Given the description of an element on the screen output the (x, y) to click on. 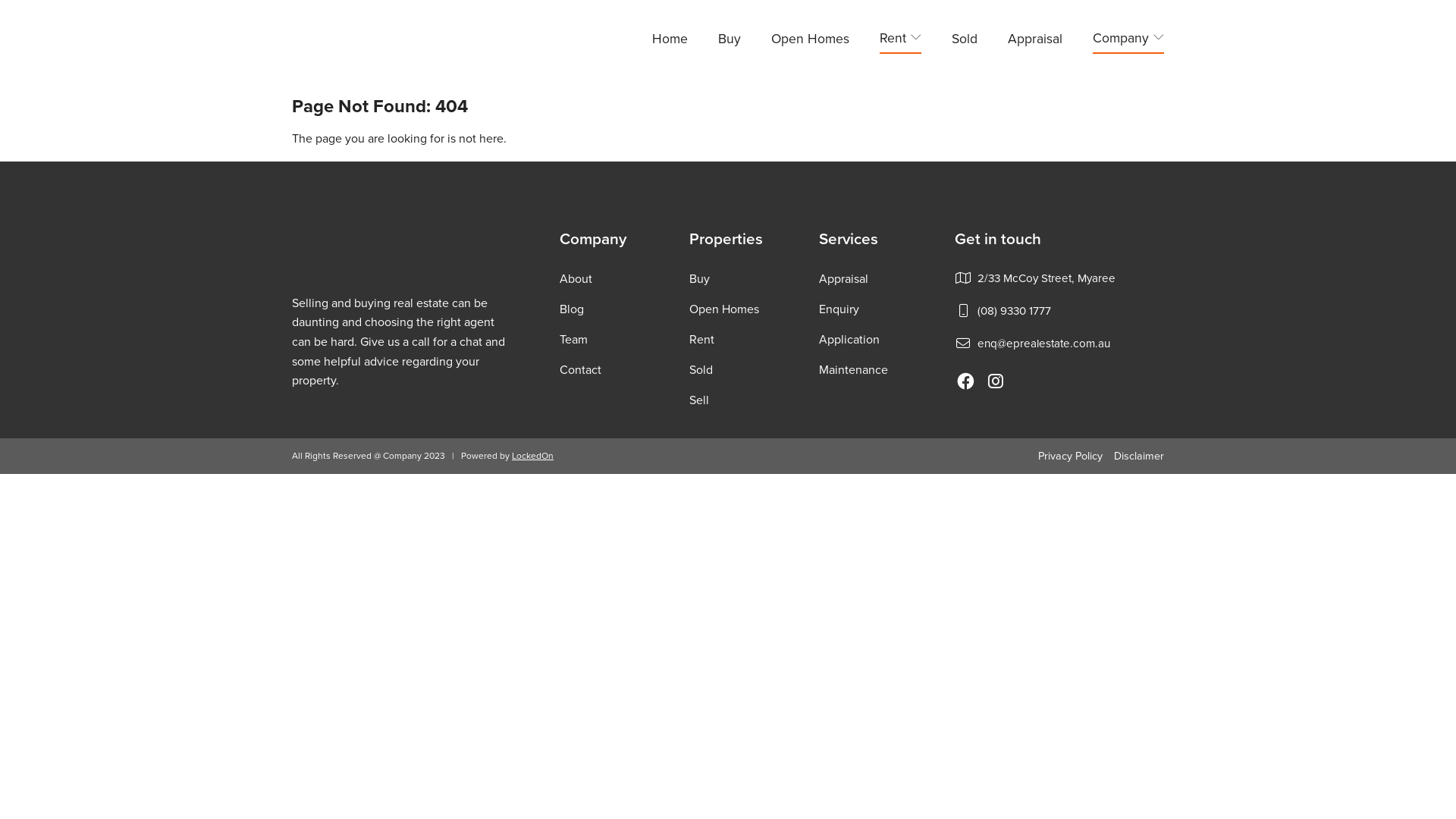
Rent Element type: text (701, 339)
Appraisal Element type: text (843, 278)
Disclaimer Element type: text (1138, 455)
Sell Element type: text (699, 399)
Buy Element type: text (699, 278)
Sold Element type: text (964, 41)
Open Homes Element type: text (724, 308)
LockedOn Element type: text (532, 455)
Maintenance Element type: text (853, 369)
Enquiry Element type: text (839, 308)
Team Element type: text (573, 339)
Sold Element type: text (700, 369)
Contact Element type: text (580, 369)
Open Homes Element type: text (810, 41)
Application Element type: text (849, 339)
Home Element type: text (669, 41)
Buy Element type: text (729, 41)
(08) 9330 1777 Element type: text (1014, 310)
enq@eprealestate.com.au Element type: text (1043, 343)
About Element type: text (575, 278)
Blog Element type: text (571, 308)
Appraisal Element type: text (1034, 41)
Privacy Policy Element type: text (1070, 455)
